Given the description of an element on the screen output the (x, y) to click on. 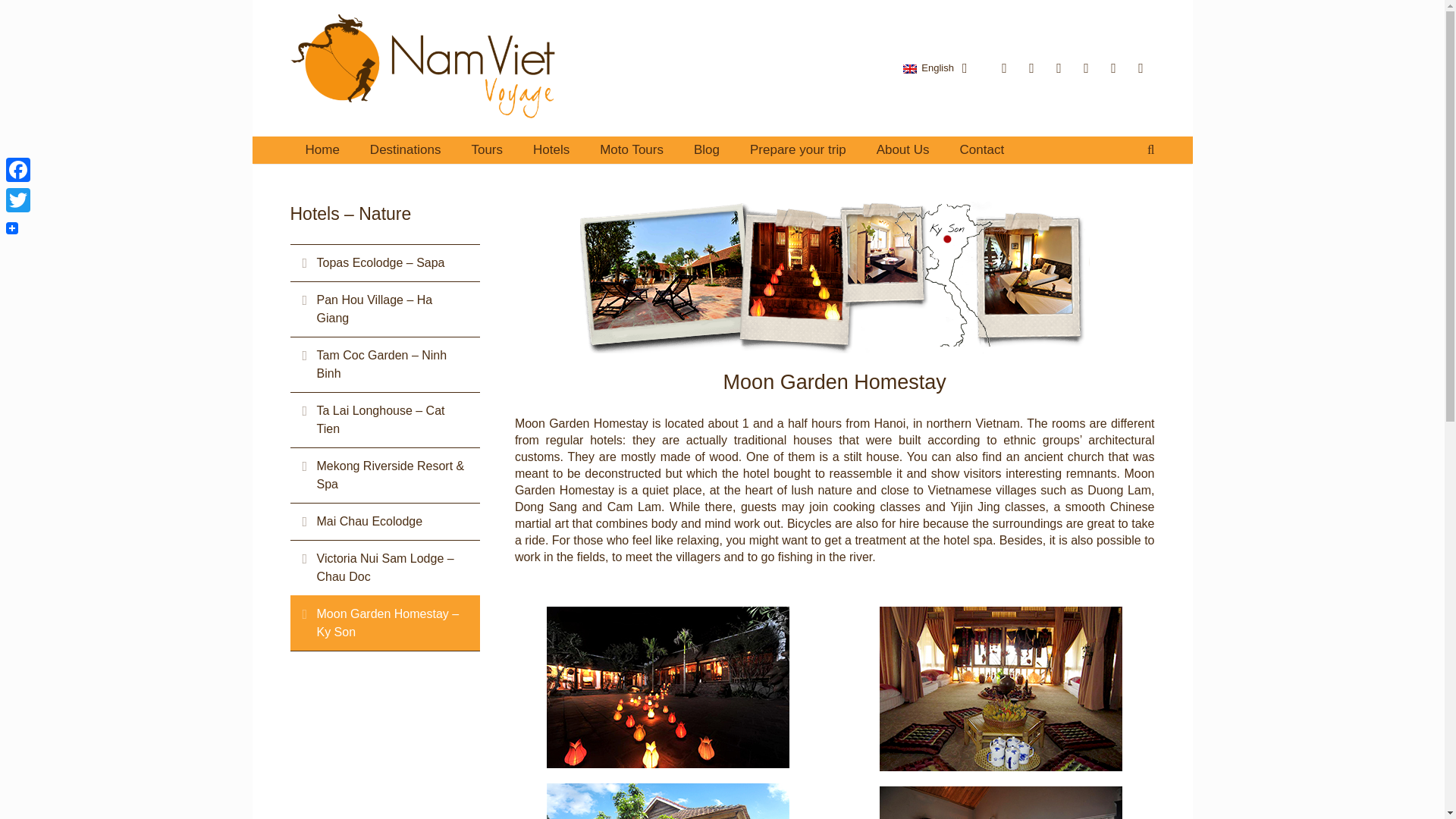
Destinations (406, 149)
Facebook (17, 169)
English (934, 67)
Twitter (17, 200)
Home (321, 149)
